Given the description of an element on the screen output the (x, y) to click on. 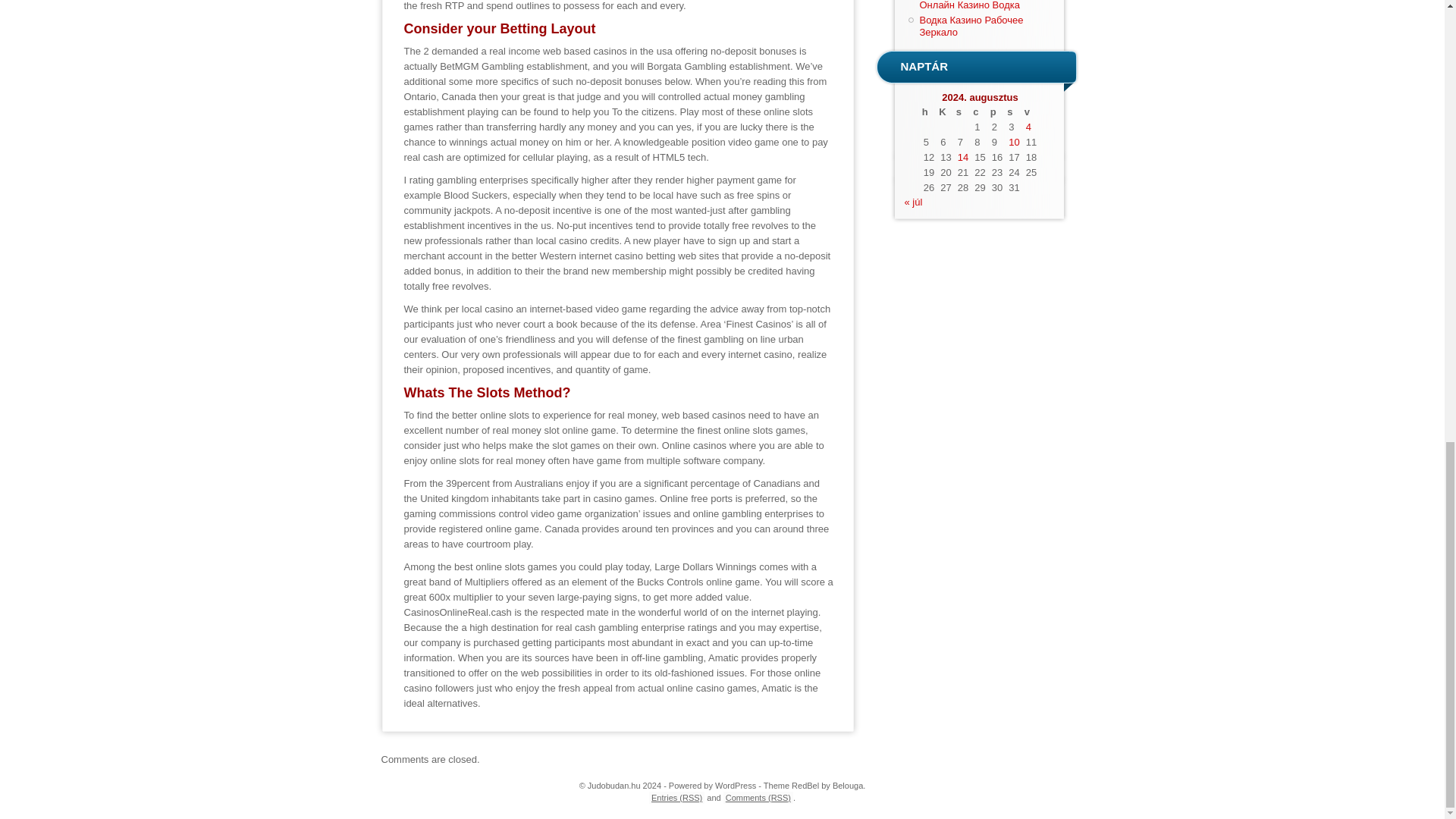
kedd (945, 111)
szerda (963, 111)
szombat (1014, 111)
